Given the description of an element on the screen output the (x, y) to click on. 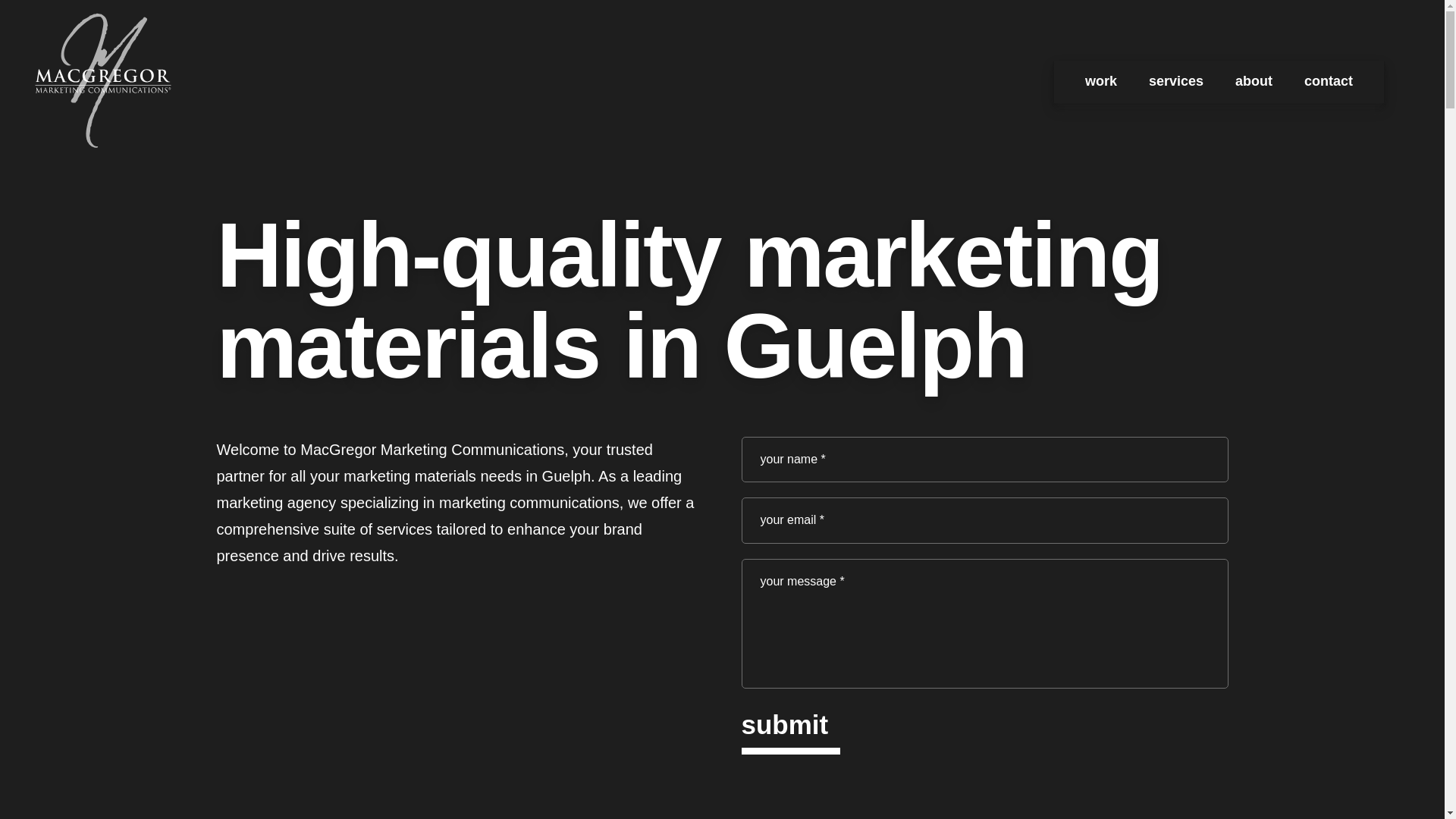
contact (1328, 81)
services (1176, 81)
about (1254, 81)
work (1100, 81)
submit (784, 729)
